Given the description of an element on the screen output the (x, y) to click on. 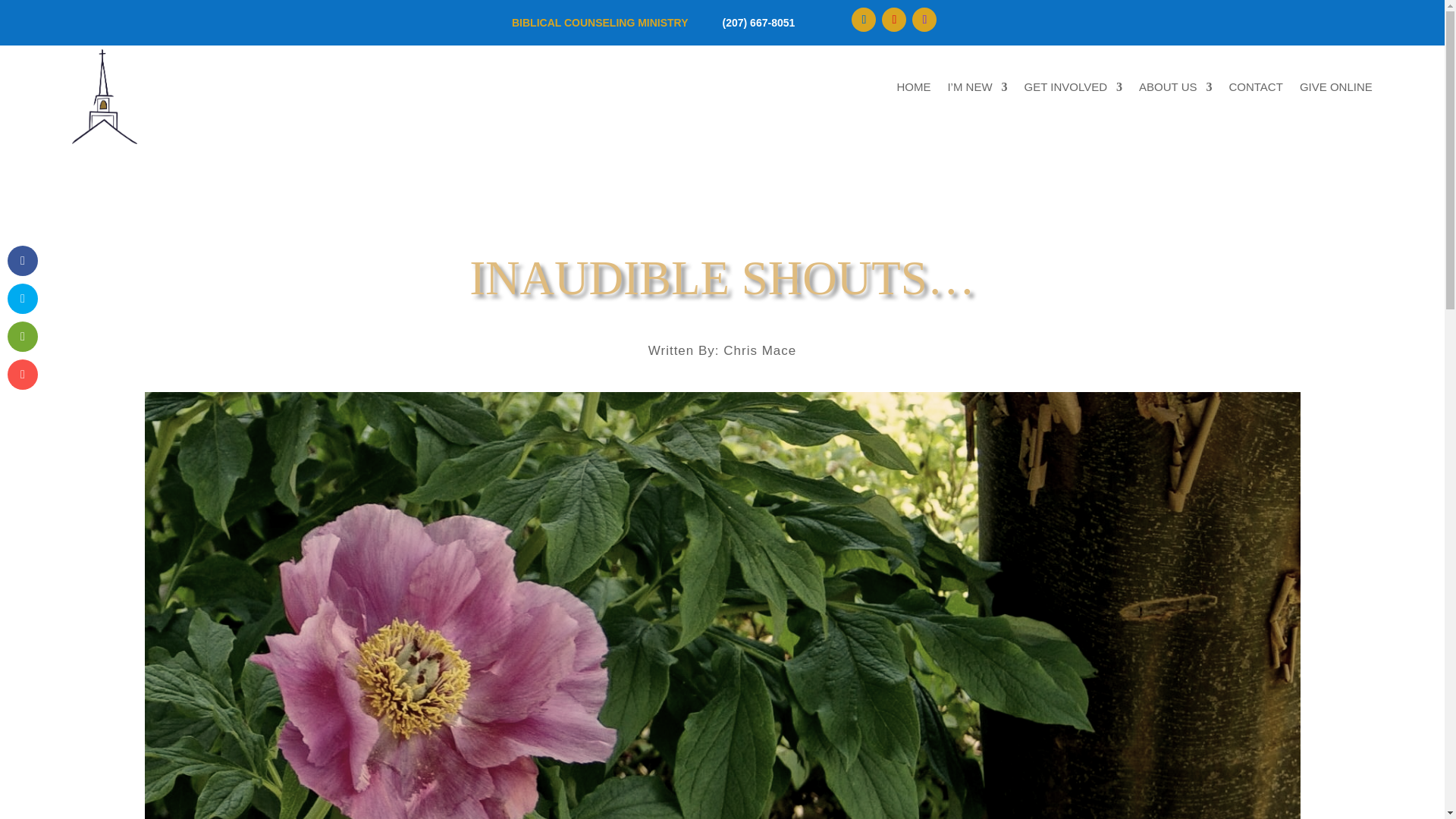
Follow on Youtube (893, 19)
Follow on RSS (924, 19)
GIVE ONLINE (1336, 89)
GET INVOLVED (1073, 89)
Follow on Facebook (863, 19)
HOME (913, 89)
ABOUT US (1174, 89)
CONTACT (1255, 89)
BIBLICAL COUNSELING MINISTRY (600, 22)
